Given the description of an element on the screen output the (x, y) to click on. 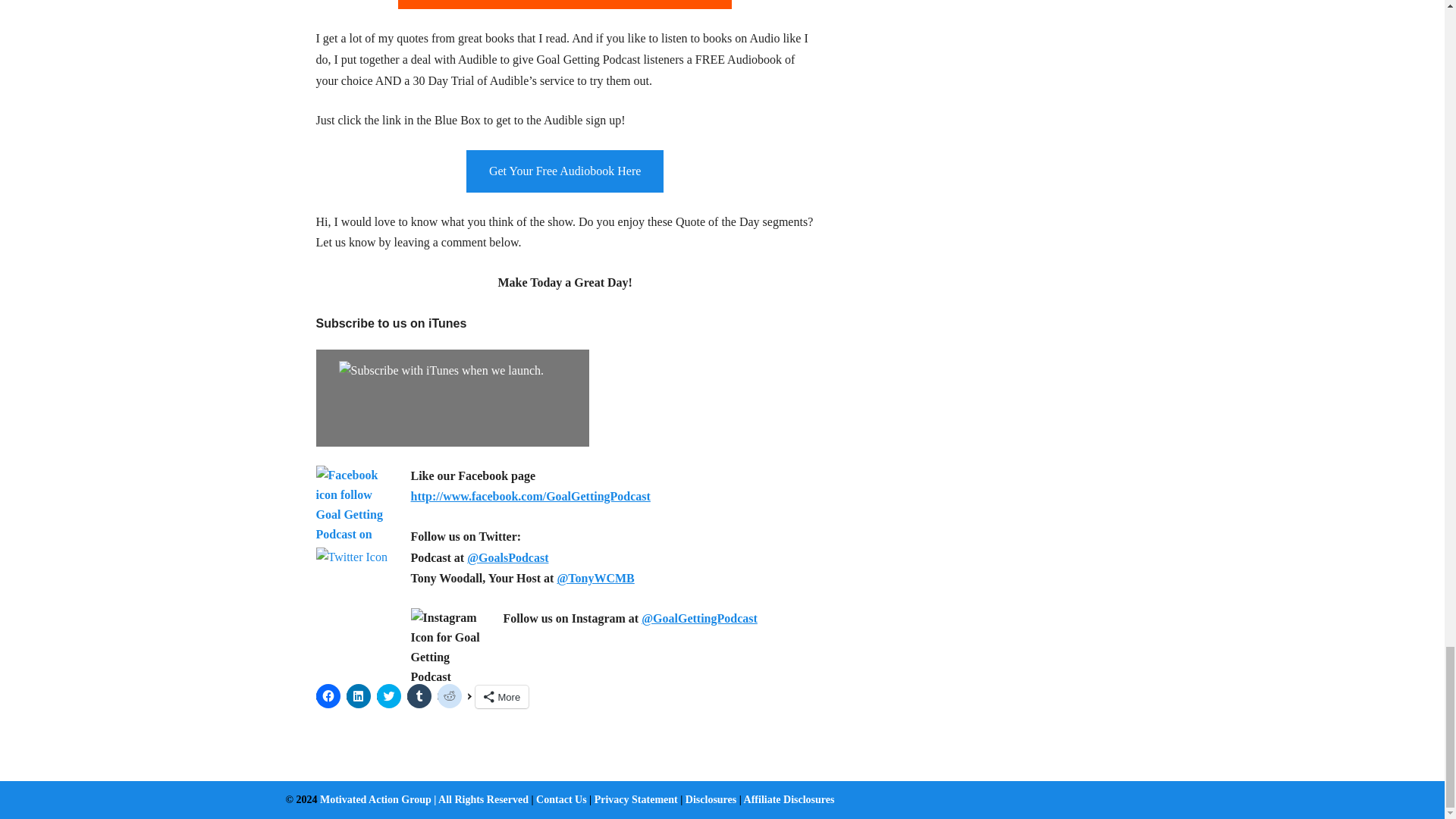
Click to share on Facebook (327, 695)
Click to share on Reddit (448, 695)
Click to share on Twitter (387, 695)
Click to share on LinkedIn (357, 695)
Click to share on Tumblr (418, 695)
Get Your Free Audiobook Here (564, 170)
